Given the description of an element on the screen output the (x, y) to click on. 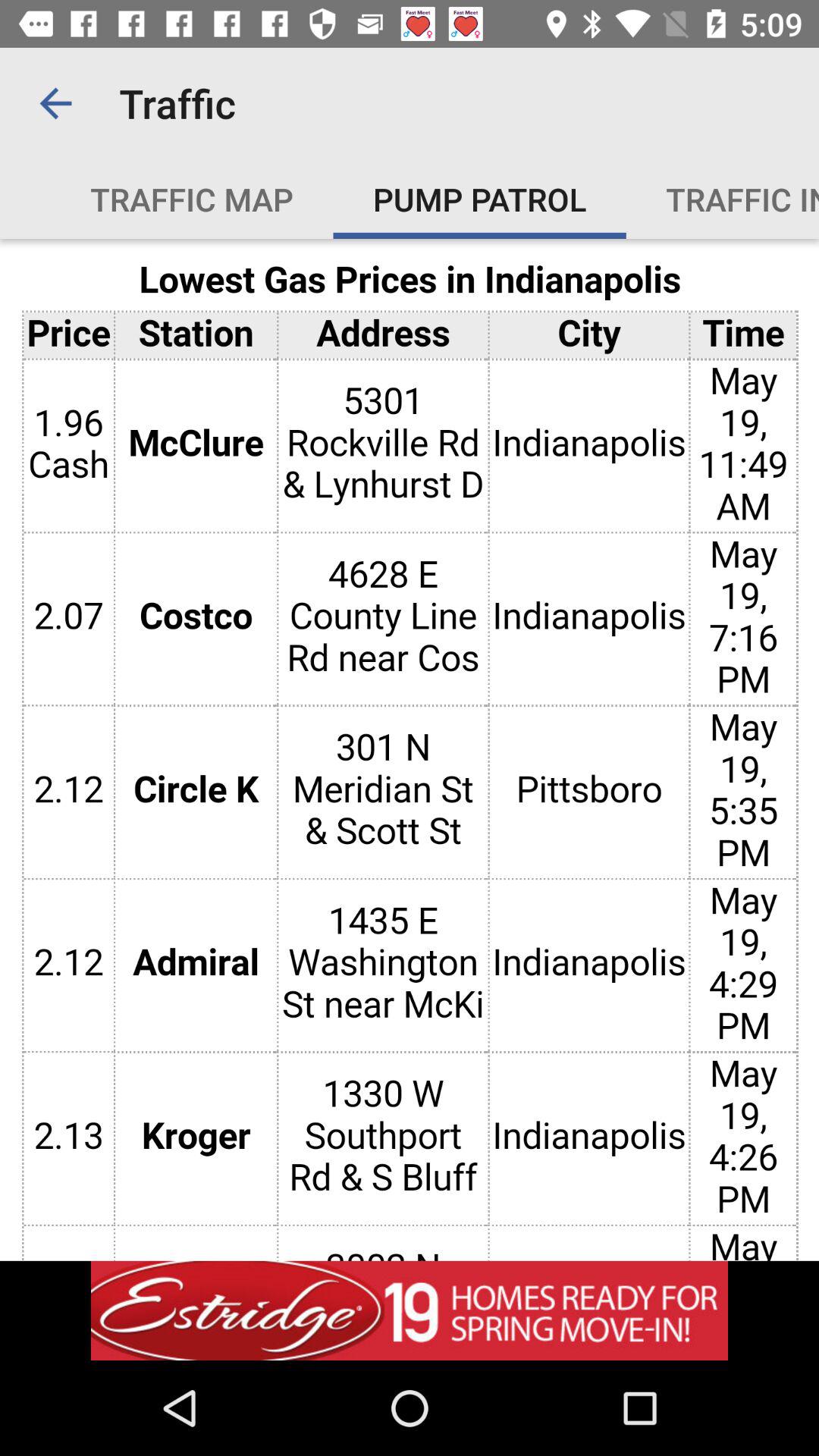
screen page (409, 749)
